Given the description of an element on the screen output the (x, y) to click on. 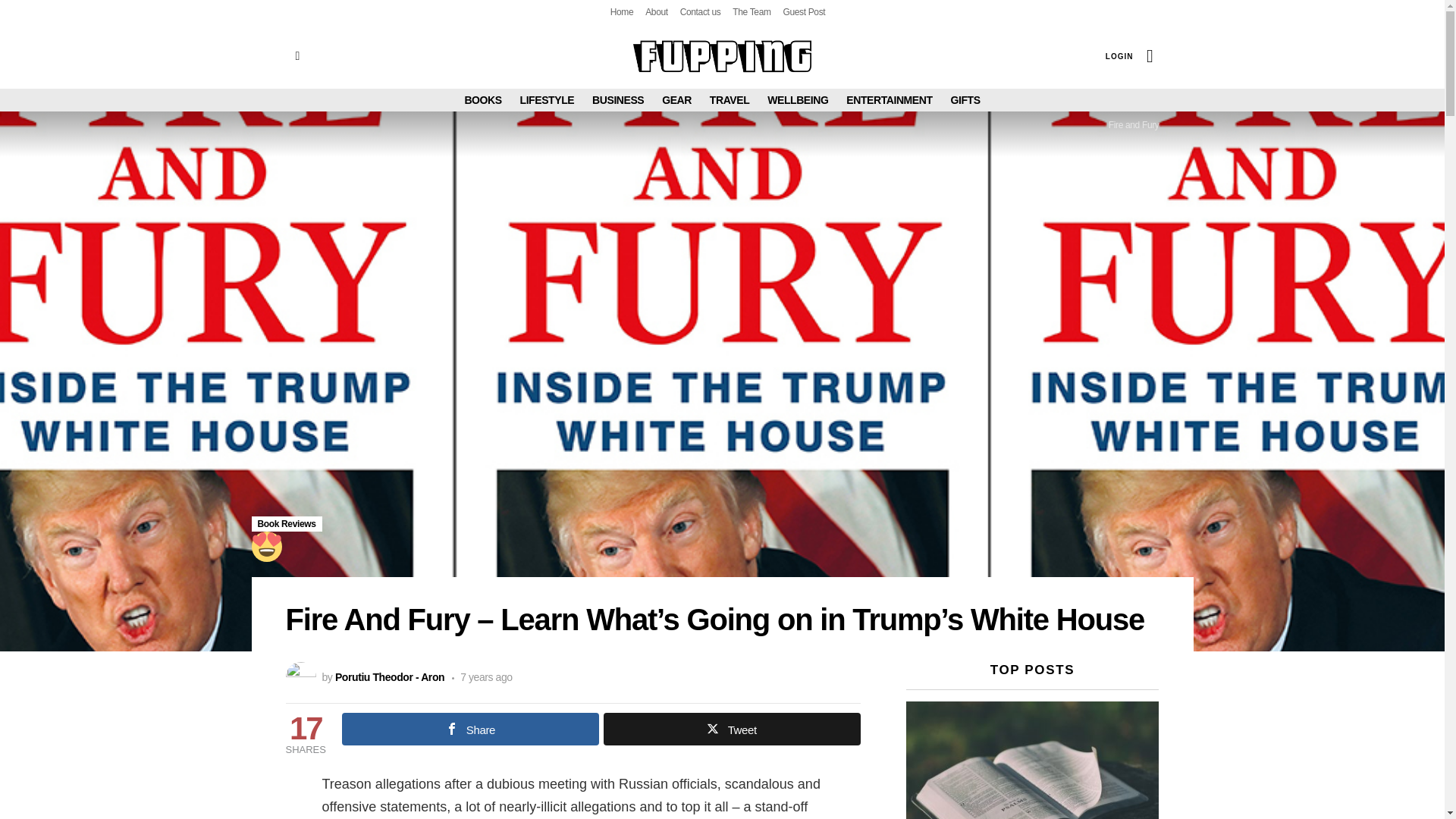
Share (470, 728)
LOGIN (1119, 56)
About (656, 12)
Tweet (732, 728)
Book Reviews (286, 523)
Porutiu Theodor - Aron (389, 676)
Menu (296, 55)
Home (621, 12)
BUSINESS (617, 99)
January 21, 2018, 6:57 am (481, 676)
LIFESTYLE (547, 99)
The Team (751, 12)
Guest Post (804, 12)
GIFTS (964, 99)
Contact us (699, 12)
